Given the description of an element on the screen output the (x, y) to click on. 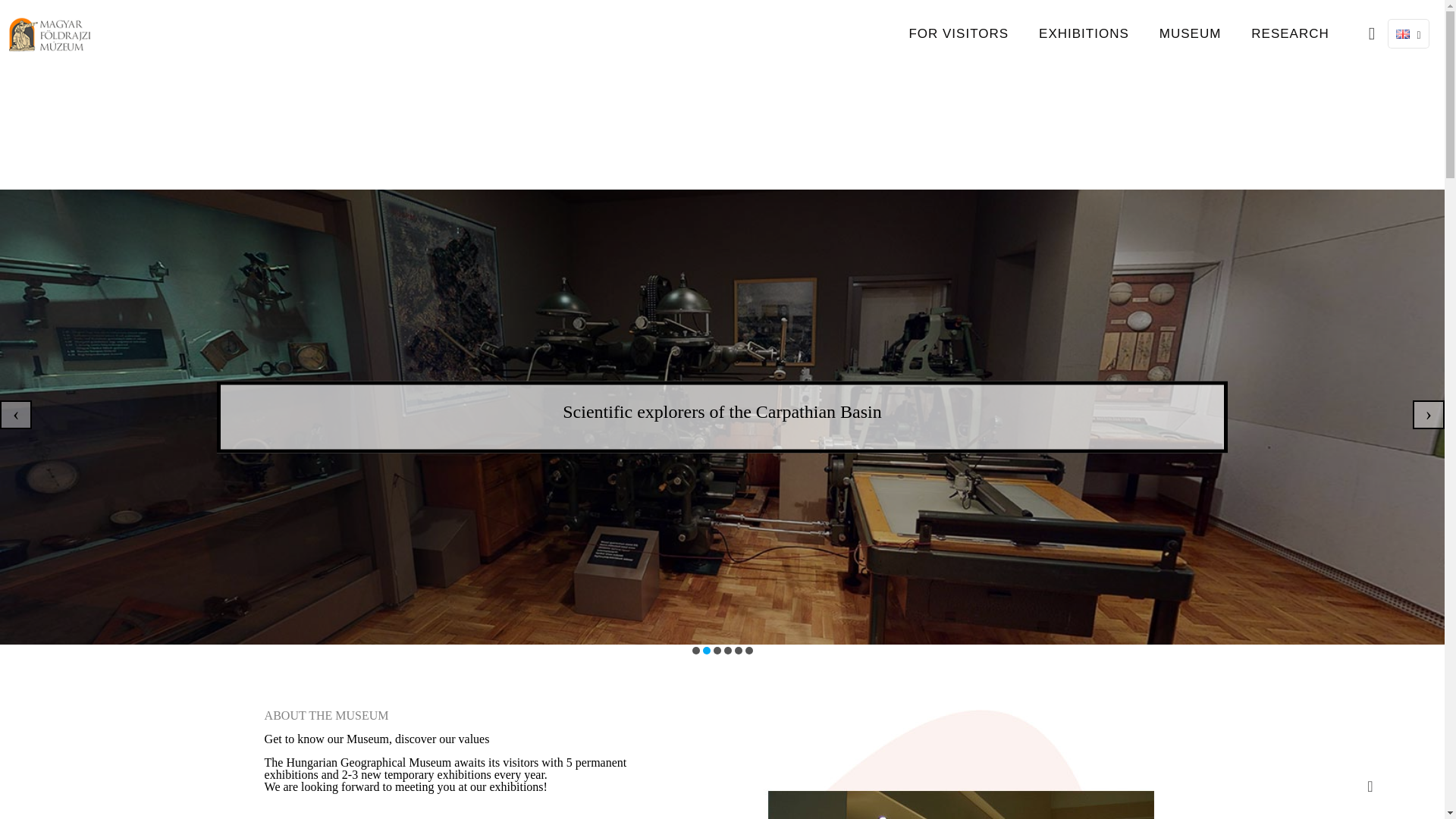
EXHIBITIONS (1083, 33)
FOR VISITORS (958, 33)
Scientific explorers of the Carpathian Basin (722, 411)
MUSEUM (1190, 33)
RESEARCH (1289, 33)
